Given the description of an element on the screen output the (x, y) to click on. 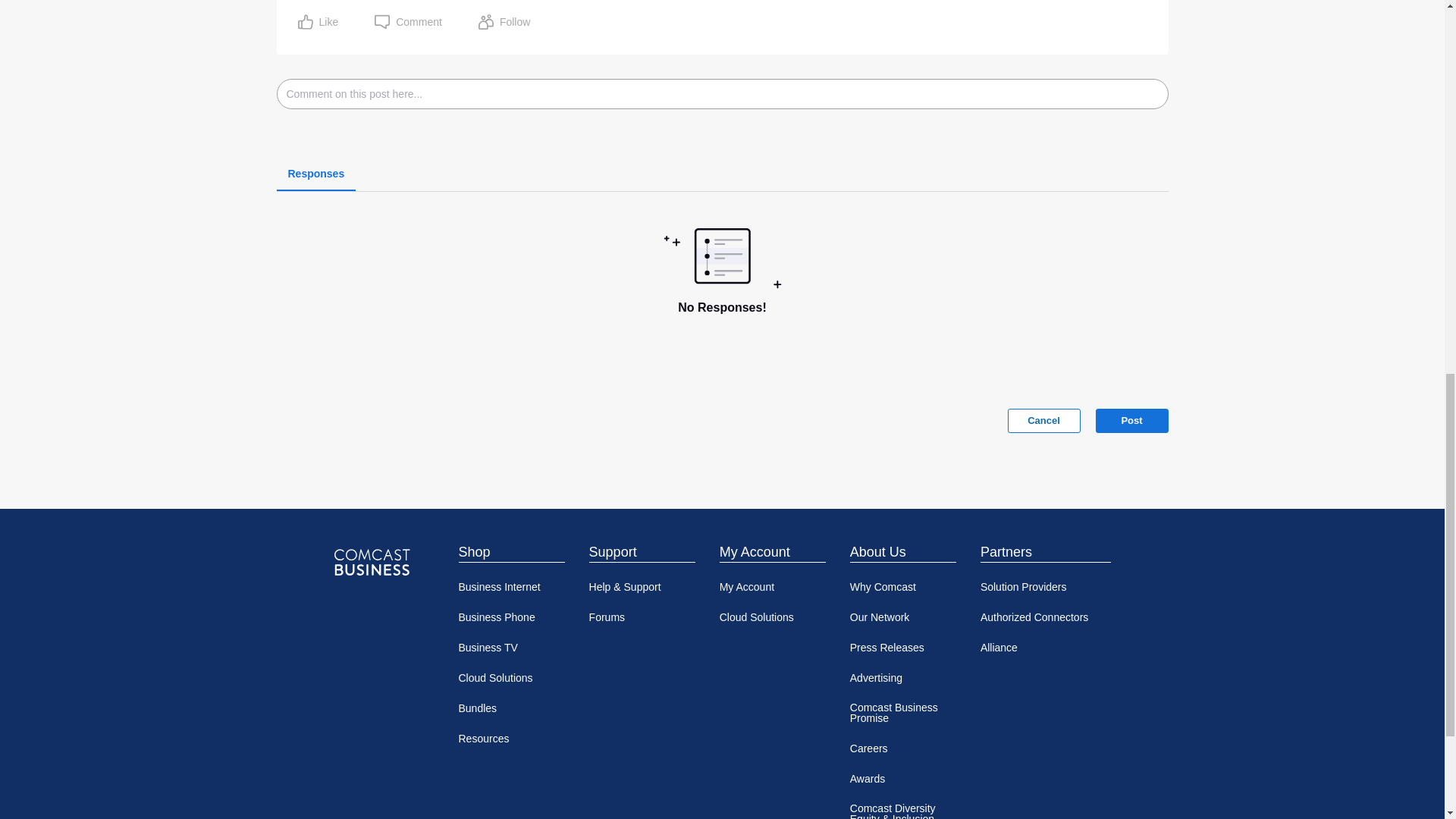
Bundles (511, 707)
Post (1130, 420)
Cancel (1043, 420)
Follow (503, 21)
Comcast Business (371, 562)
Shop (511, 551)
Business TV (511, 647)
Comment (408, 21)
Cloud Solutions (511, 677)
Business Internet (511, 586)
